Given the description of an element on the screen output the (x, y) to click on. 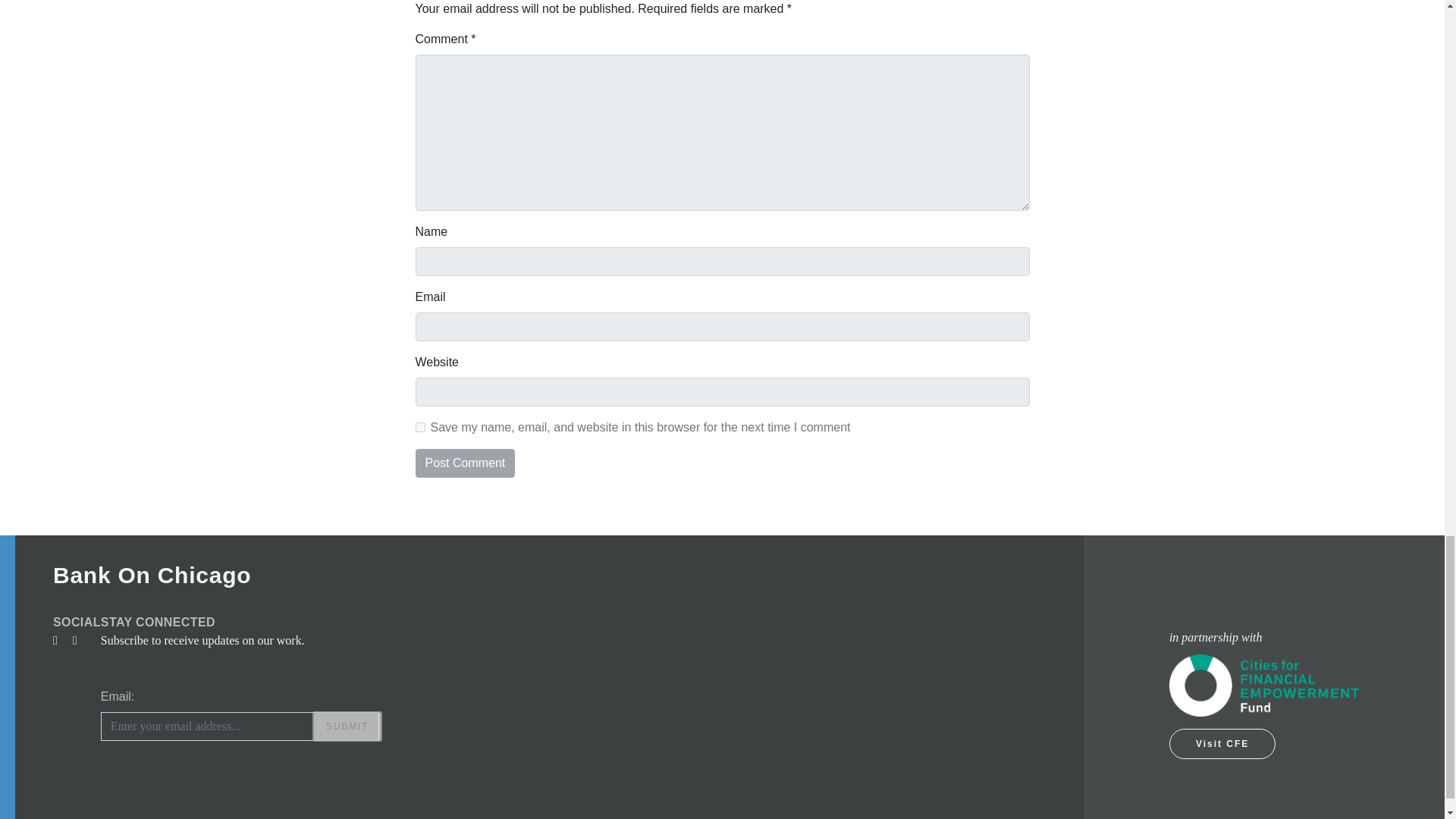
SUBMIT (347, 726)
Post Comment (464, 462)
SUBMIT (347, 726)
yes (419, 427)
Post Comment (464, 462)
Visit CFE (1222, 743)
